Given the description of an element on the screen output the (x, y) to click on. 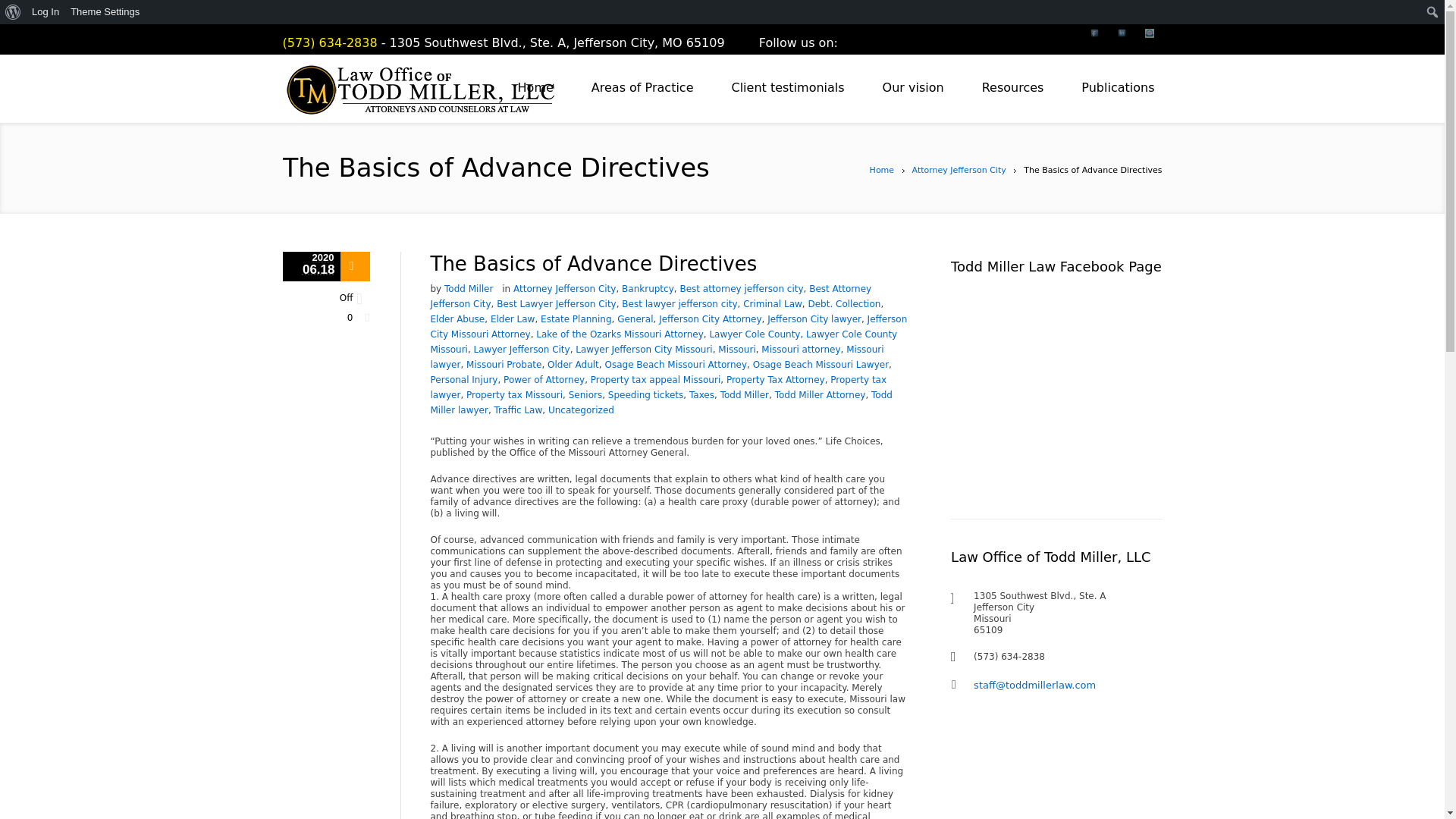
Areas of Practice (642, 88)
Jefferson City lawyer (814, 318)
Estate Planning (575, 318)
June 18, 2020 (310, 266)
Debt. Collection (844, 303)
Resources (1012, 88)
Client testimonials (787, 88)
Publications (1117, 88)
Home (535, 88)
Attorney Jefferson City (564, 288)
Posts by Todd Miller (468, 288)
Best Lawyer Jefferson City (555, 303)
Home (881, 170)
Criminal Law (772, 303)
Best lawyer jefferson city (678, 303)
